Given the description of an element on the screen output the (x, y) to click on. 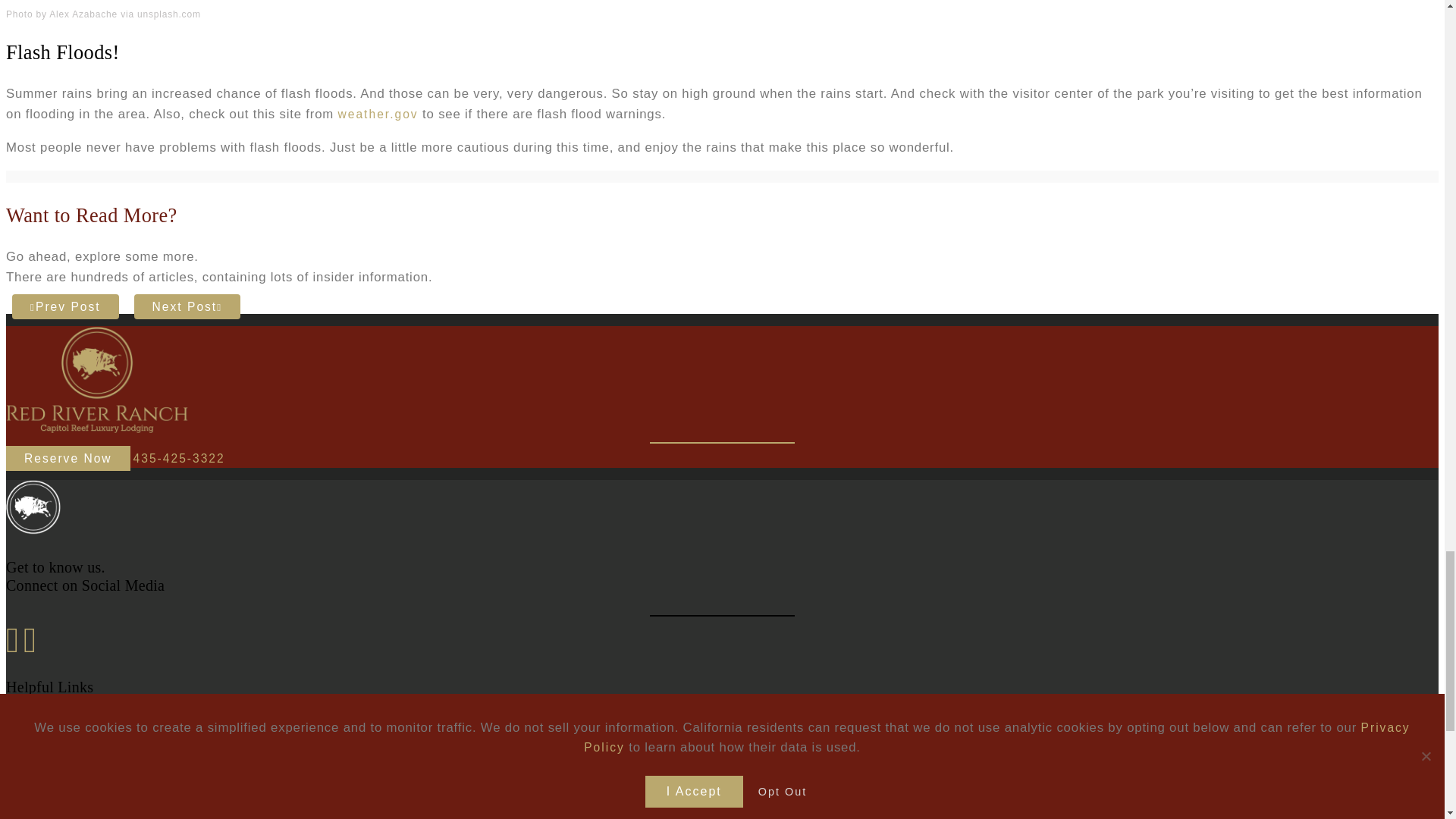
Next Post (187, 306)
435-425-3322 (179, 458)
Reserve Now (68, 457)
Amenities (68, 775)
weather.gov (378, 113)
Our Rooms (73, 811)
Contact Us (73, 738)
Gallery (60, 793)
Prev Post (65, 306)
About Us (66, 757)
